Given the description of an element on the screen output the (x, y) to click on. 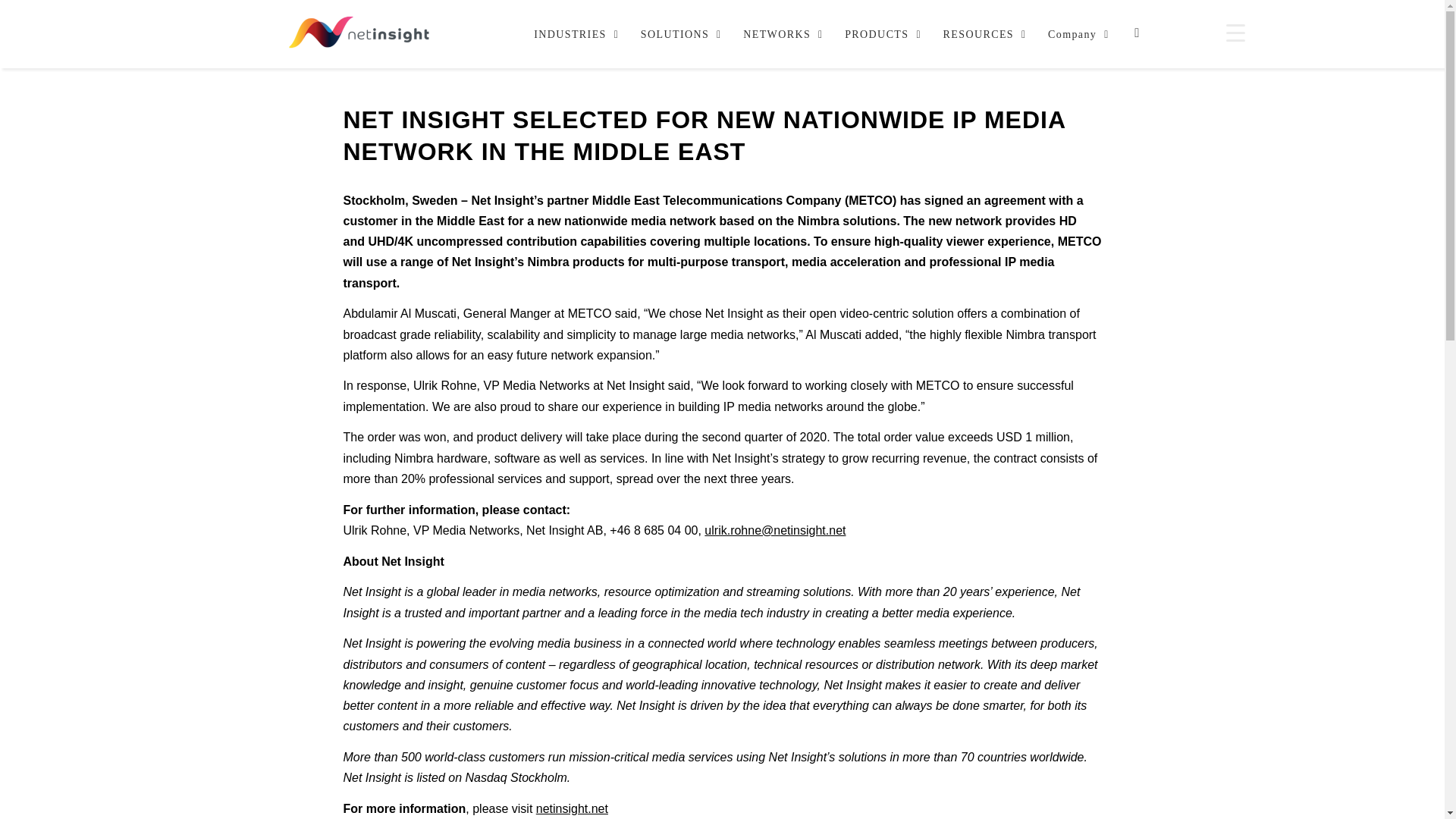
SOLUTIONS (677, 33)
netinsight-black (358, 32)
INDUSTRIES (572, 33)
NETWORKS (778, 33)
netinsight-black (358, 33)
